Given the description of an element on the screen output the (x, y) to click on. 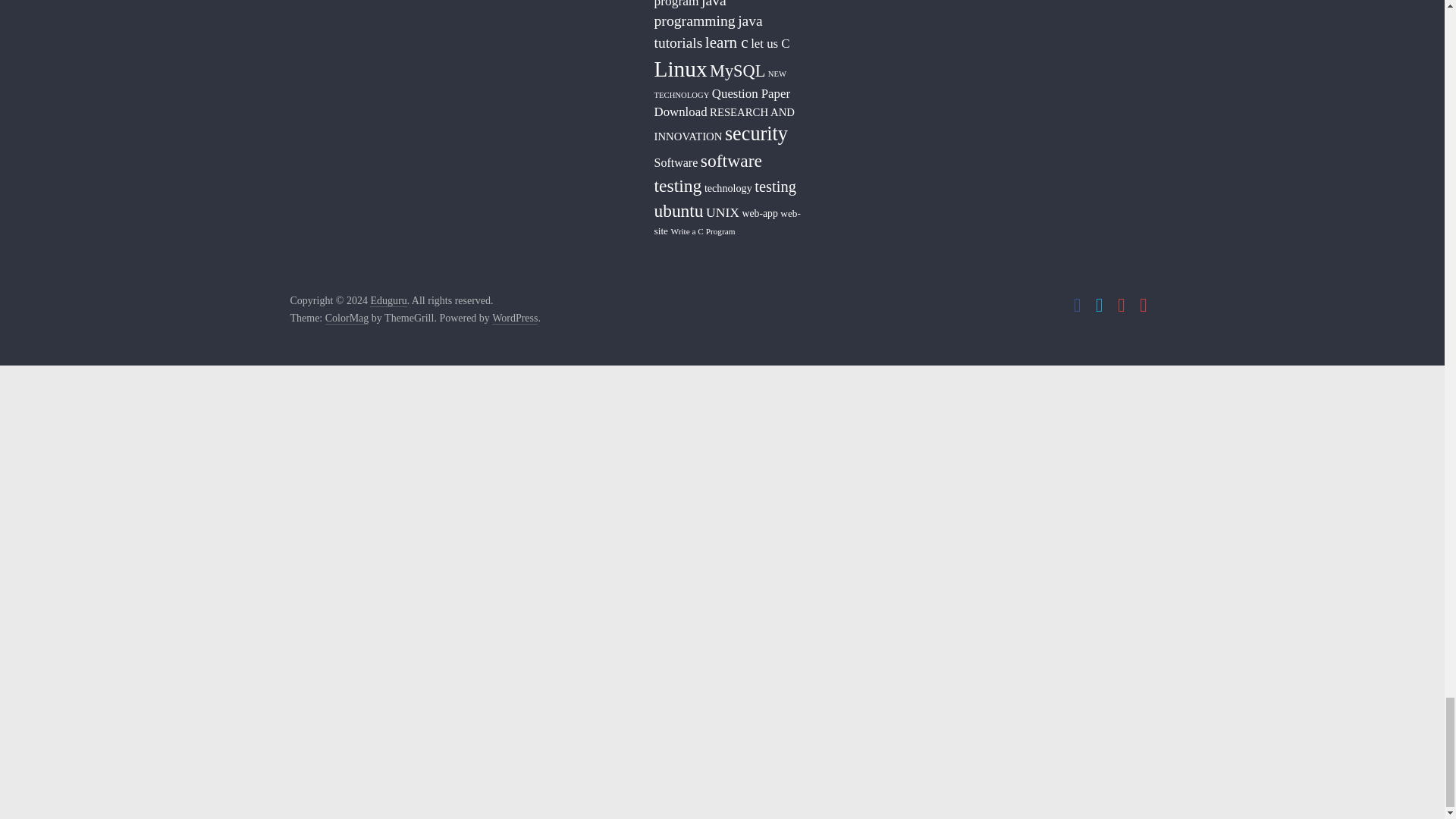
WordPress (514, 318)
ColorMag (346, 318)
Eduguru (387, 300)
